Given the description of an element on the screen output the (x, y) to click on. 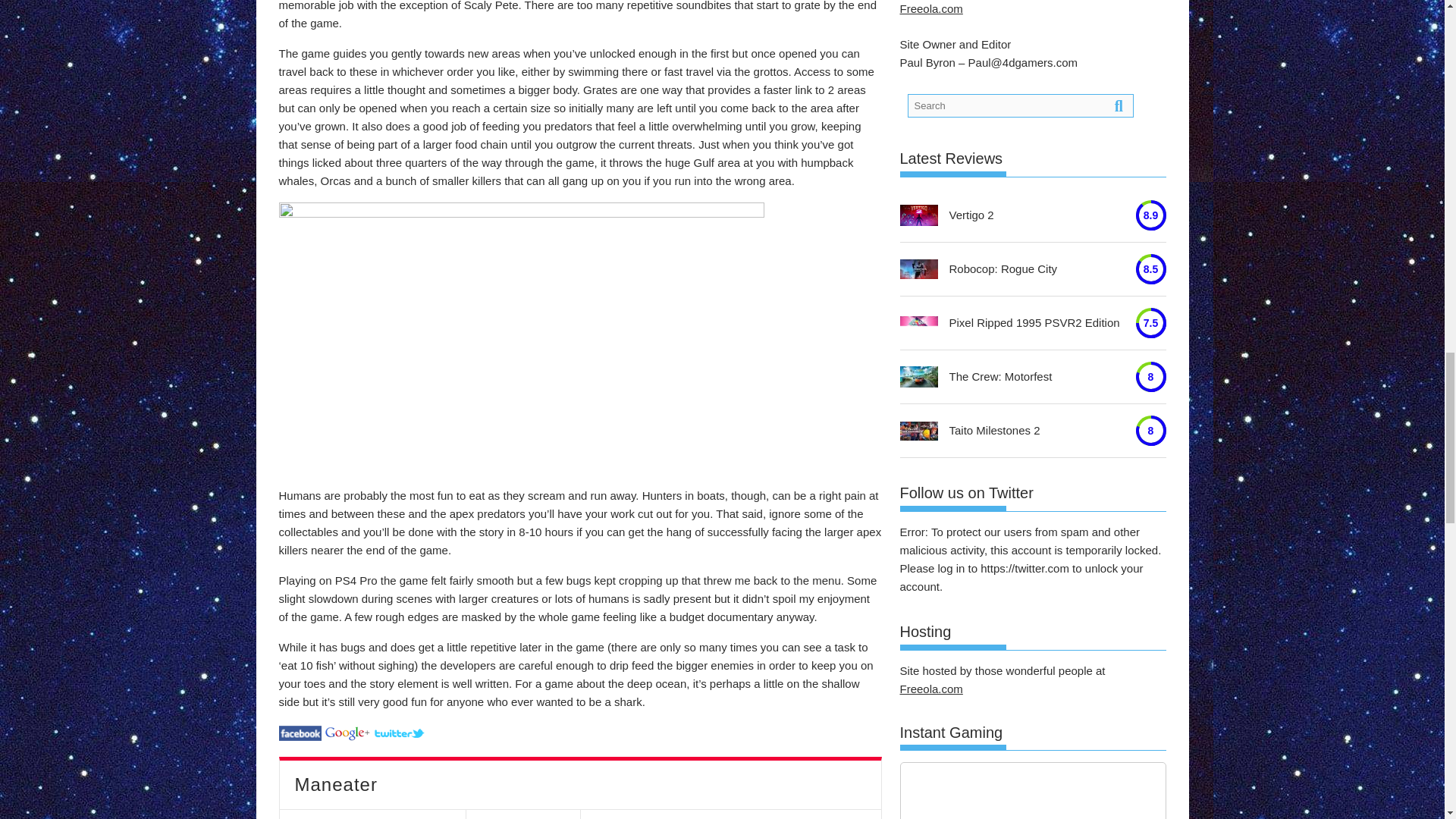
Review:Maneater (399, 731)
Review:Maneater (346, 731)
Review:Maneater (300, 731)
